Given the description of an element on the screen output the (x, y) to click on. 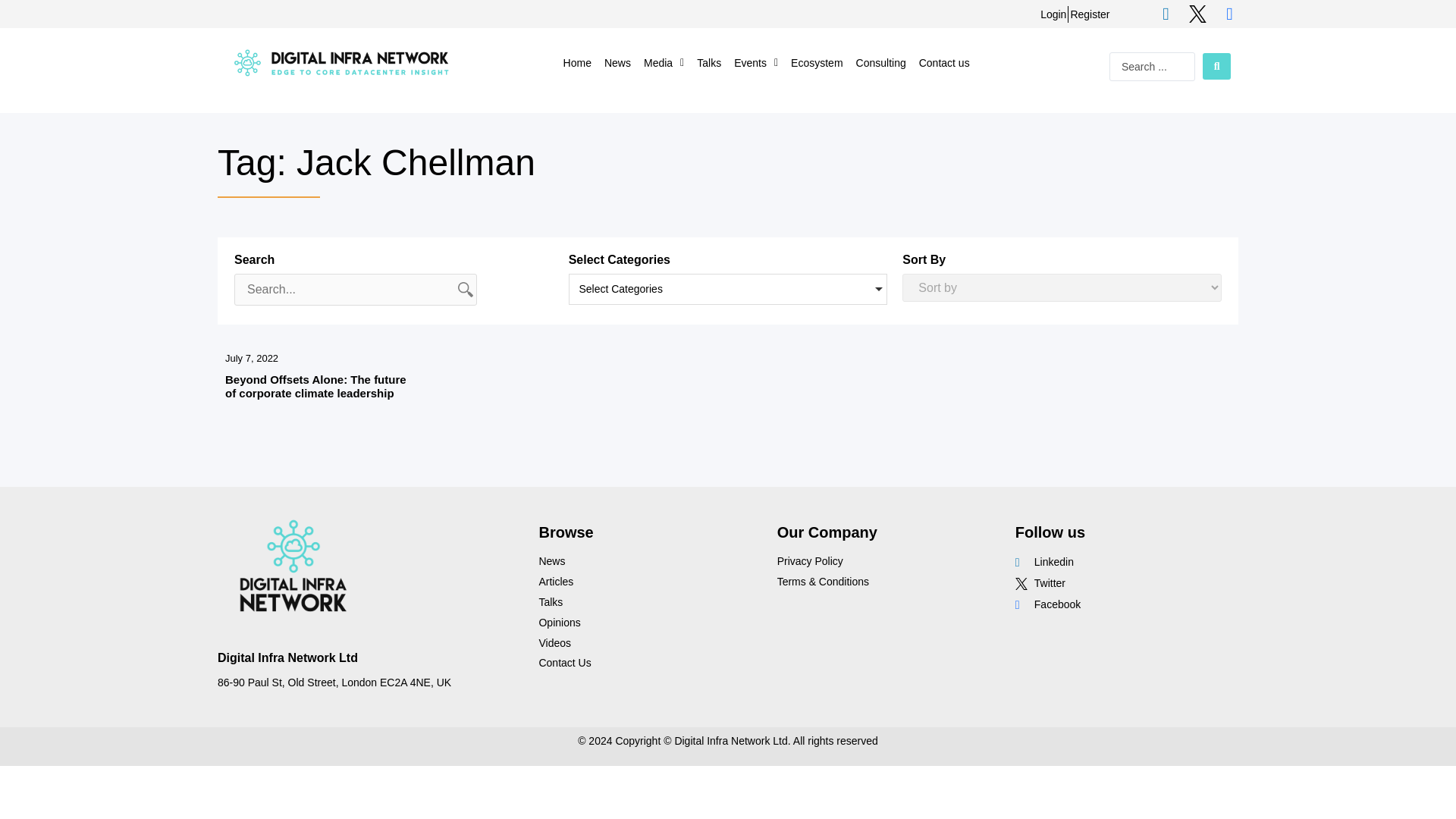
Home (577, 62)
Talks (708, 62)
Ecosystem (816, 62)
Consulting (880, 62)
Register (1089, 13)
Media (663, 62)
News (617, 62)
Events (755, 62)
Contact us (943, 62)
Login (1053, 13)
